Given the description of an element on the screen output the (x, y) to click on. 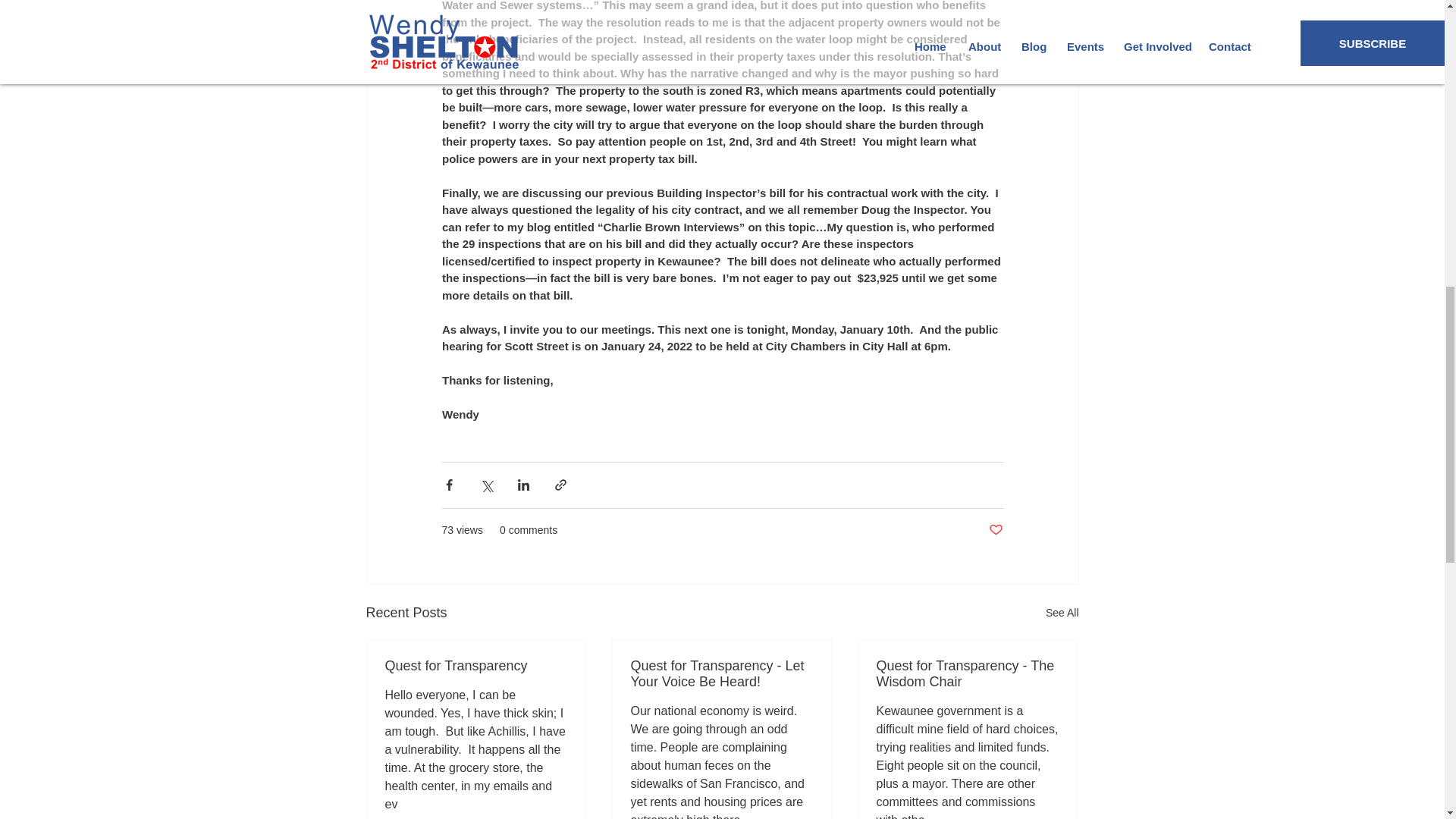
See All (1061, 612)
Quest for Transparency - Let Your Voice Be Heard! (721, 674)
Post not marked as liked (995, 529)
Quest for Transparency (476, 666)
Quest for Transparency - The Wisdom Chair (967, 674)
